Given the description of an element on the screen output the (x, y) to click on. 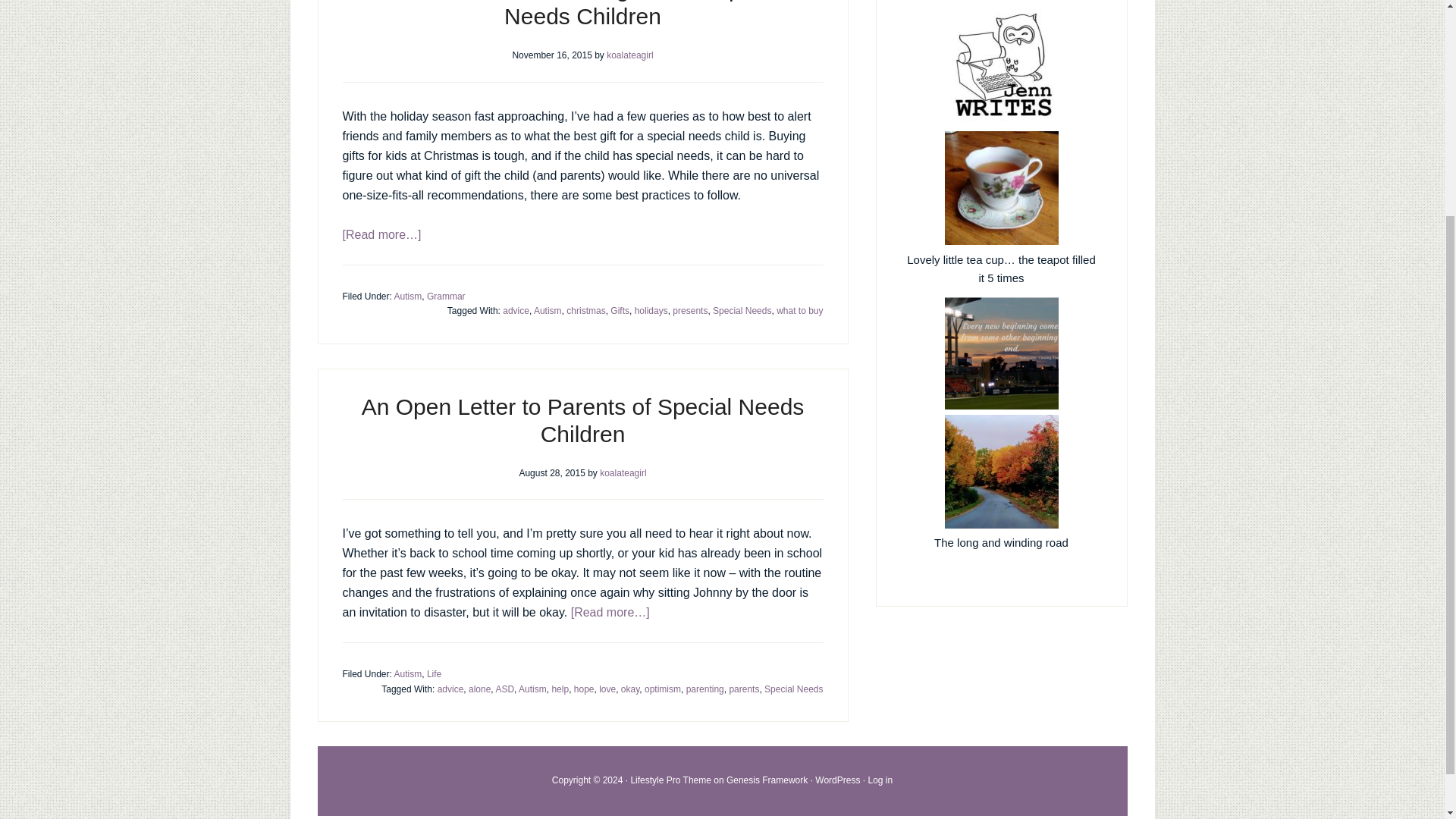
love (606, 688)
koalateagirl (629, 54)
ASD (504, 688)
Grammar (445, 295)
holidays (651, 310)
Autism (548, 310)
what to buy (799, 310)
okay (630, 688)
Life (433, 674)
help (560, 688)
